Given the description of an element on the screen output the (x, y) to click on. 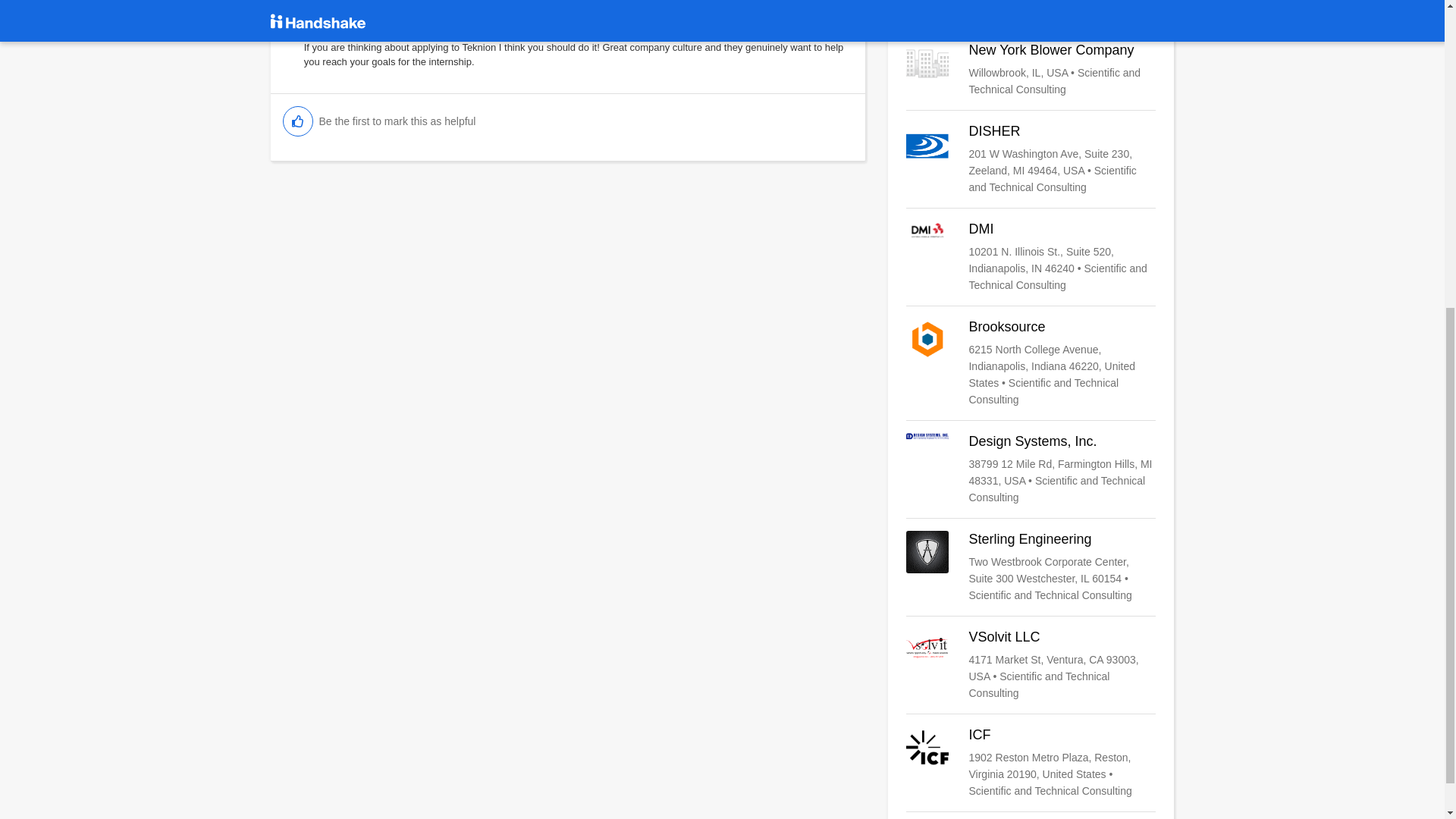
DISHER (1030, 158)
Jacobs (1030, 8)
DMI (1030, 256)
Mark this as helpful (297, 121)
VSolvit LLC (1030, 664)
Design Systems, Inc. (1030, 469)
New York Blower Company (1030, 69)
Brooksource (1030, 362)
Sterling Engineering (1030, 566)
ICF (1030, 762)
